Given the description of an element on the screen output the (x, y) to click on. 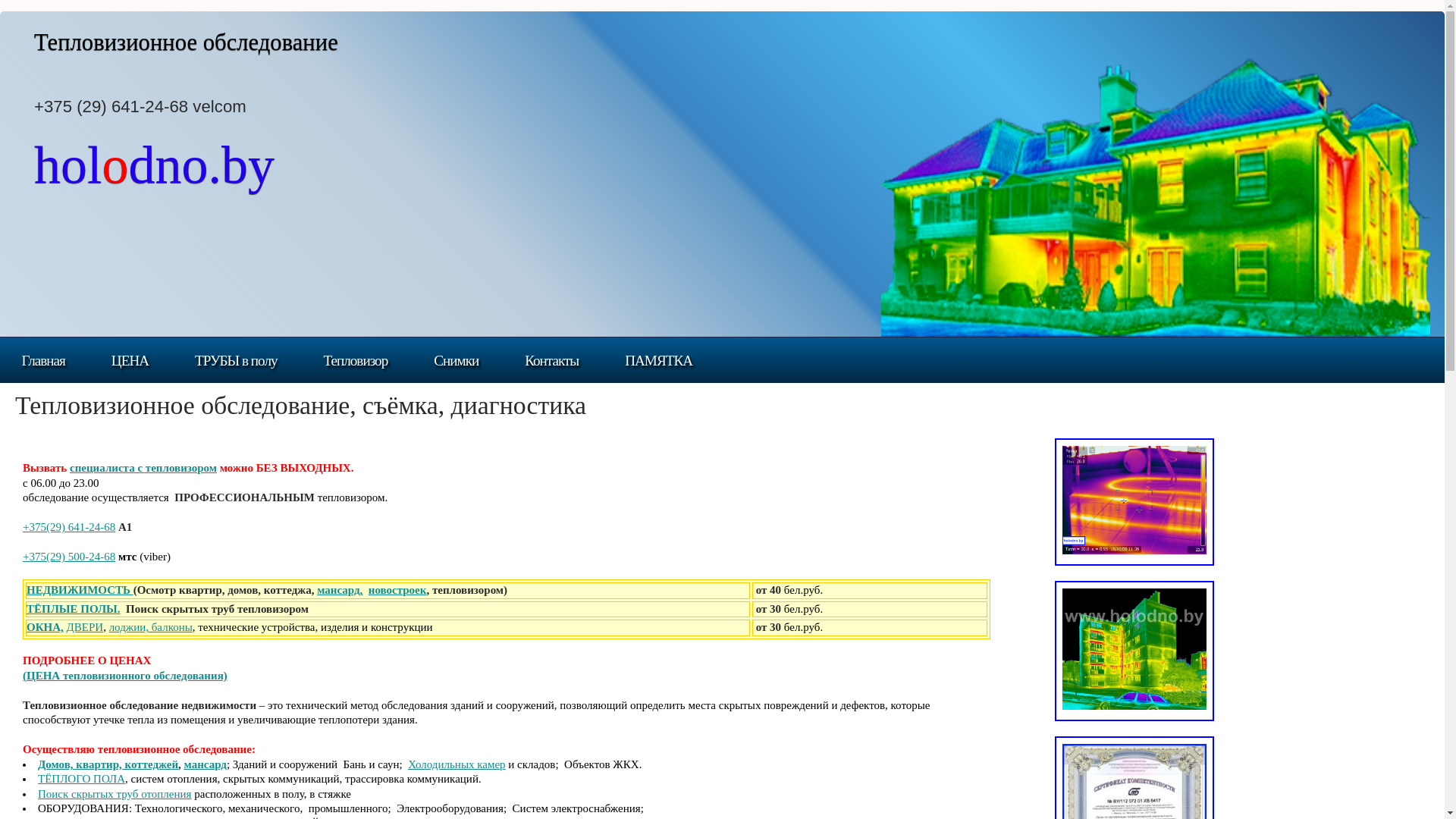
+375(29) 500-24-68 Element type: text (68, 556)
holodno.by Element type: text (154, 175)
+375(29) 641-24-68 Element type: text (68, 526)
